Given the description of an element on the screen output the (x, y) to click on. 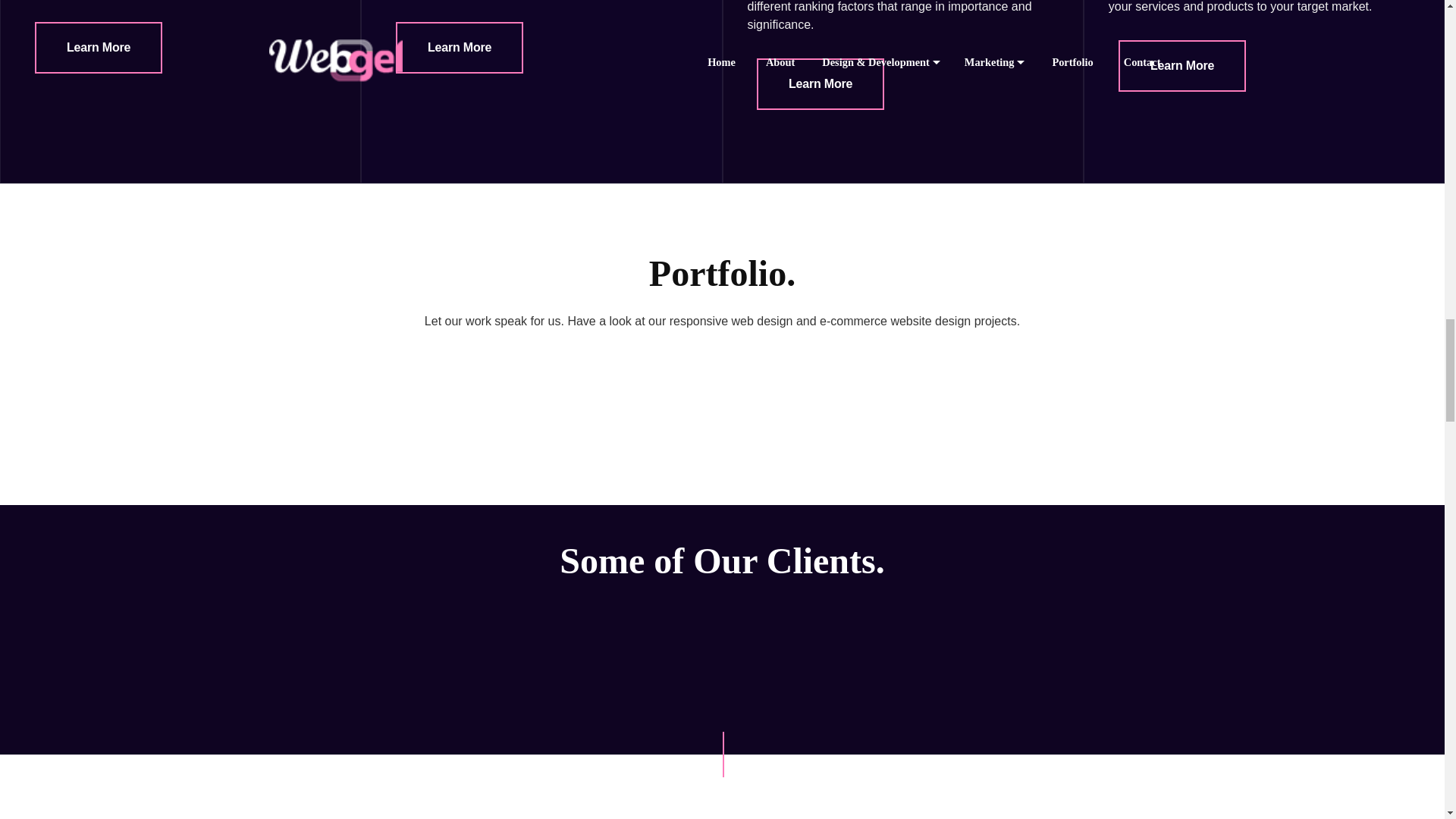
Learn More (97, 47)
Learn More (459, 47)
Learn More (1182, 65)
Learn More (820, 83)
